Given the description of an element on the screen output the (x, y) to click on. 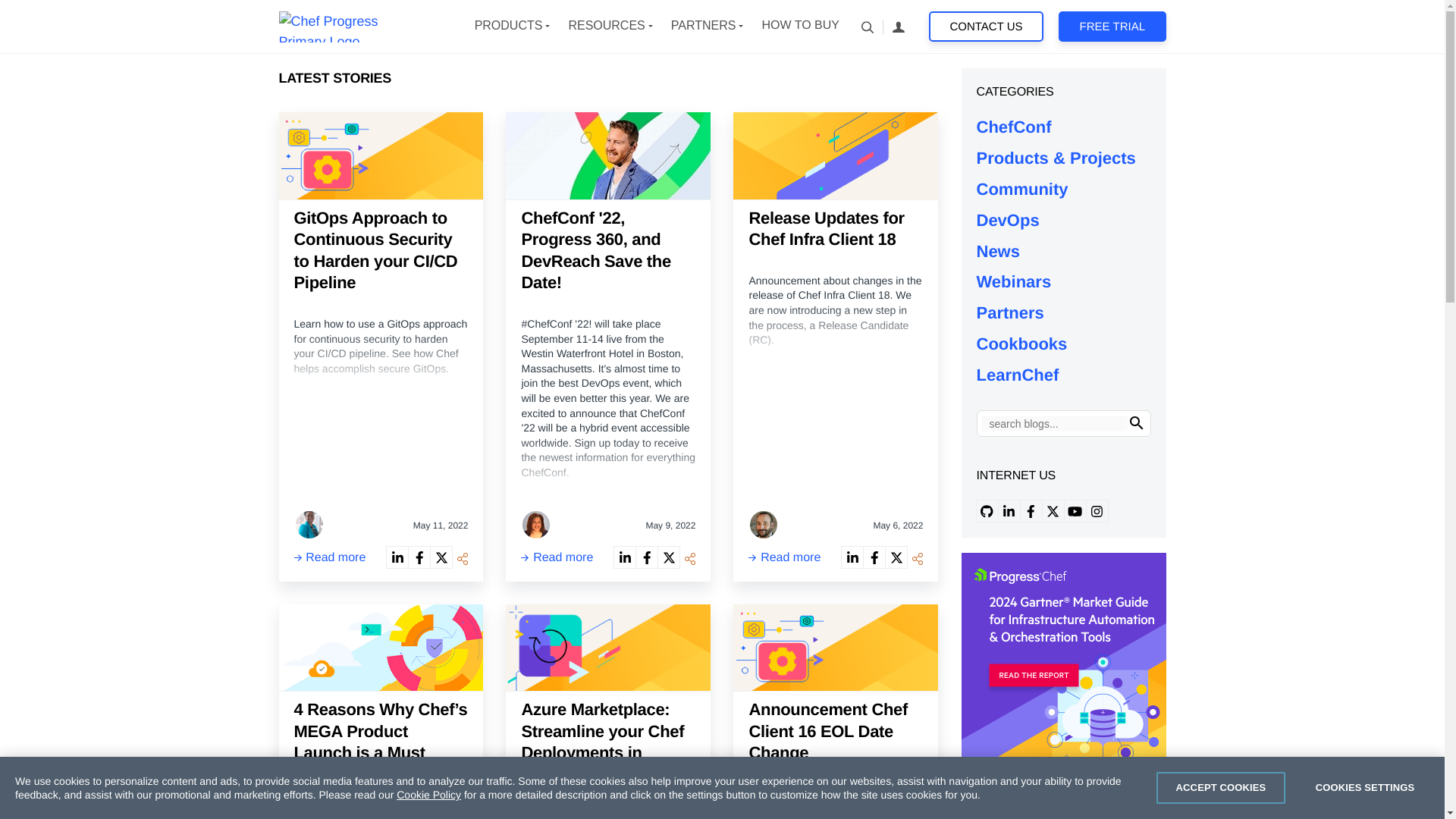
SKIP NAVIGATION (352, 26)
HOW TO BUY (799, 25)
PARTNERS (703, 25)
PRODUCTS (508, 25)
RESOURCES (606, 25)
